Given the description of an element on the screen output the (x, y) to click on. 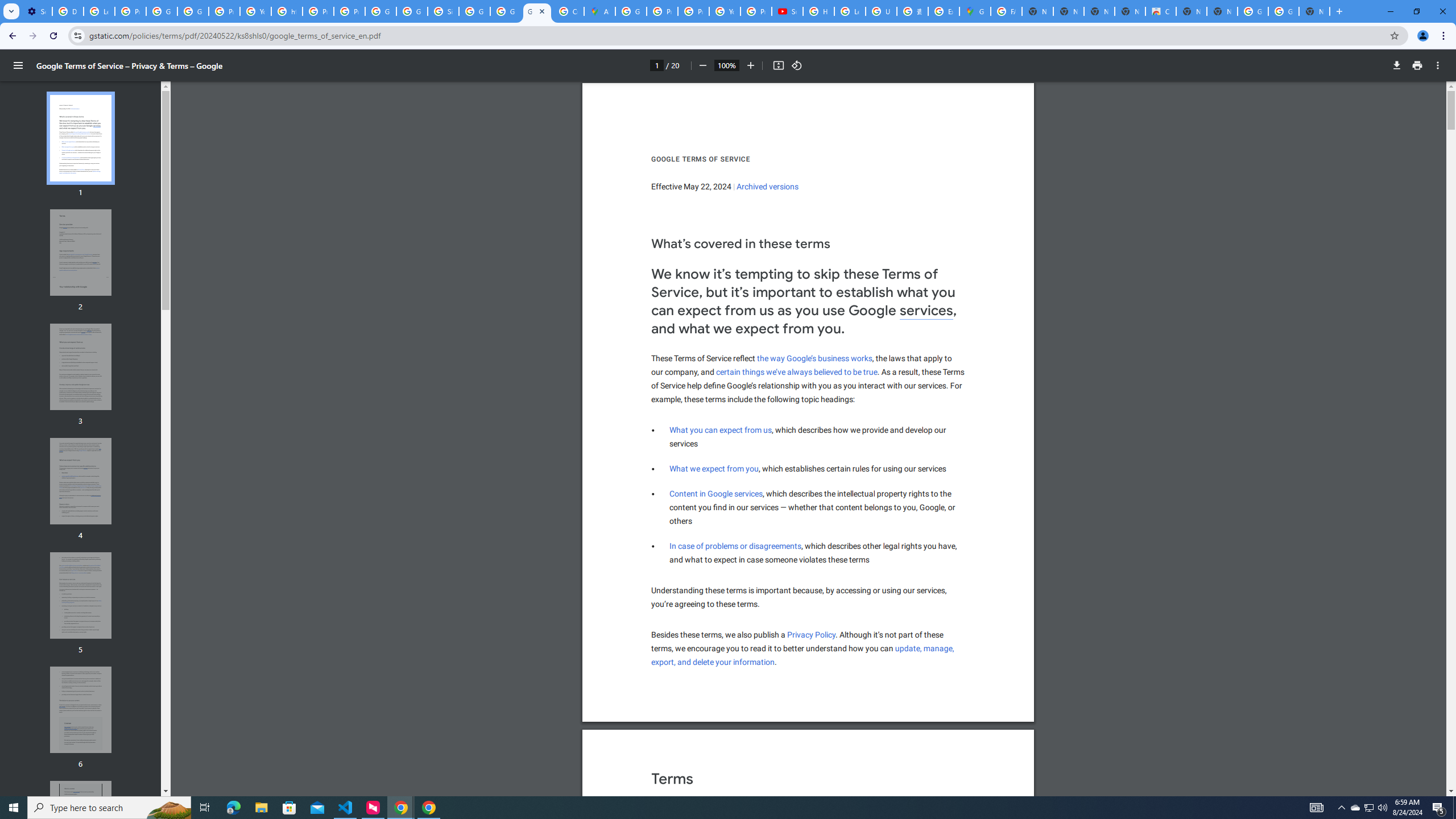
More actions (1437, 65)
Thumbnail for page 5 (80, 595)
Zoom level (726, 64)
Thumbnail for page 3 (80, 366)
New Tab (1314, 11)
What we expect from you (713, 468)
Thumbnail for page 2 (80, 252)
